Given the description of an element on the screen output the (x, y) to click on. 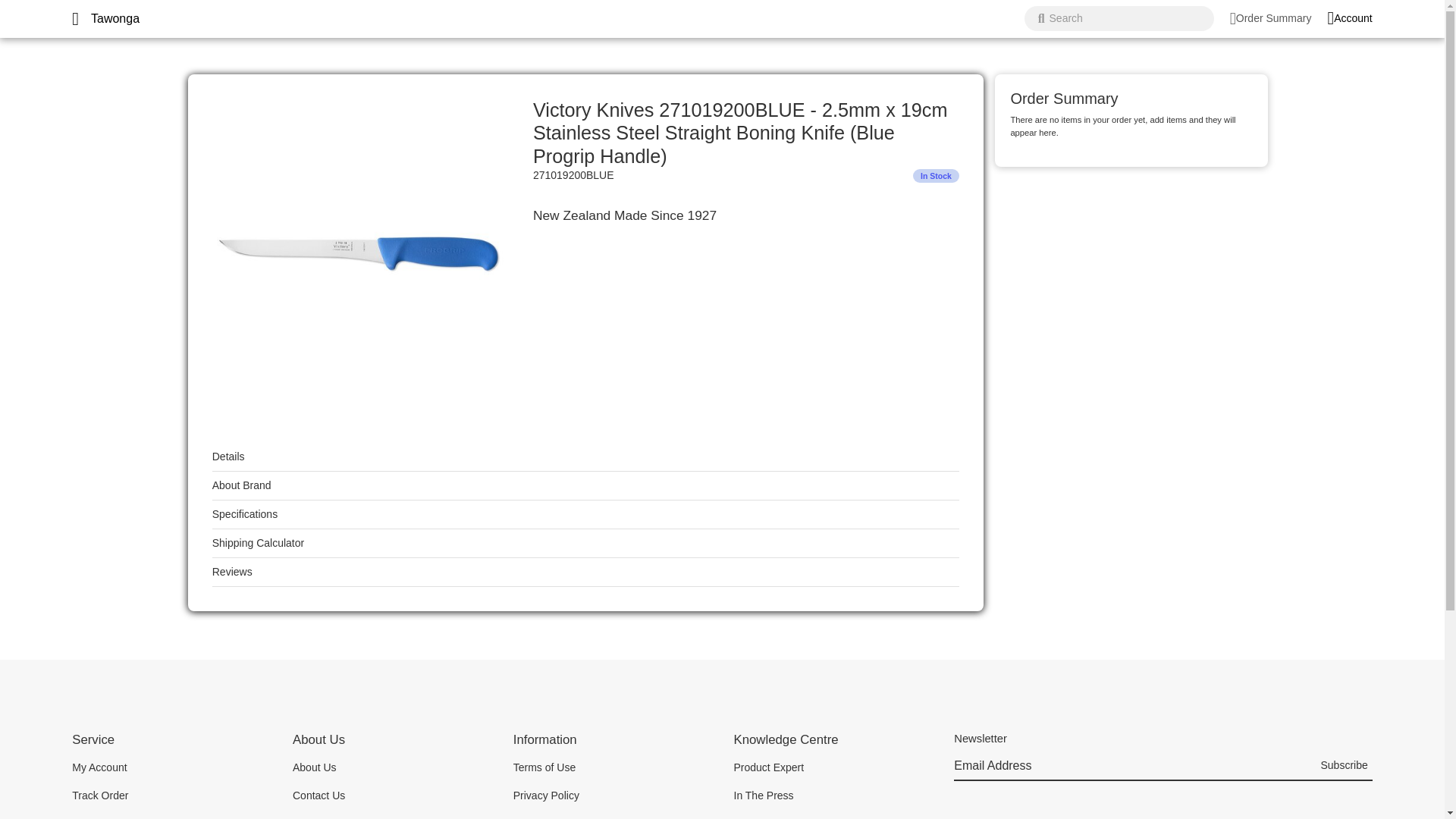
Subscribe (1343, 766)
Account (1348, 18)
Tawonga (114, 18)
Order Summary (1271, 18)
